Given the description of an element on the screen output the (x, y) to click on. 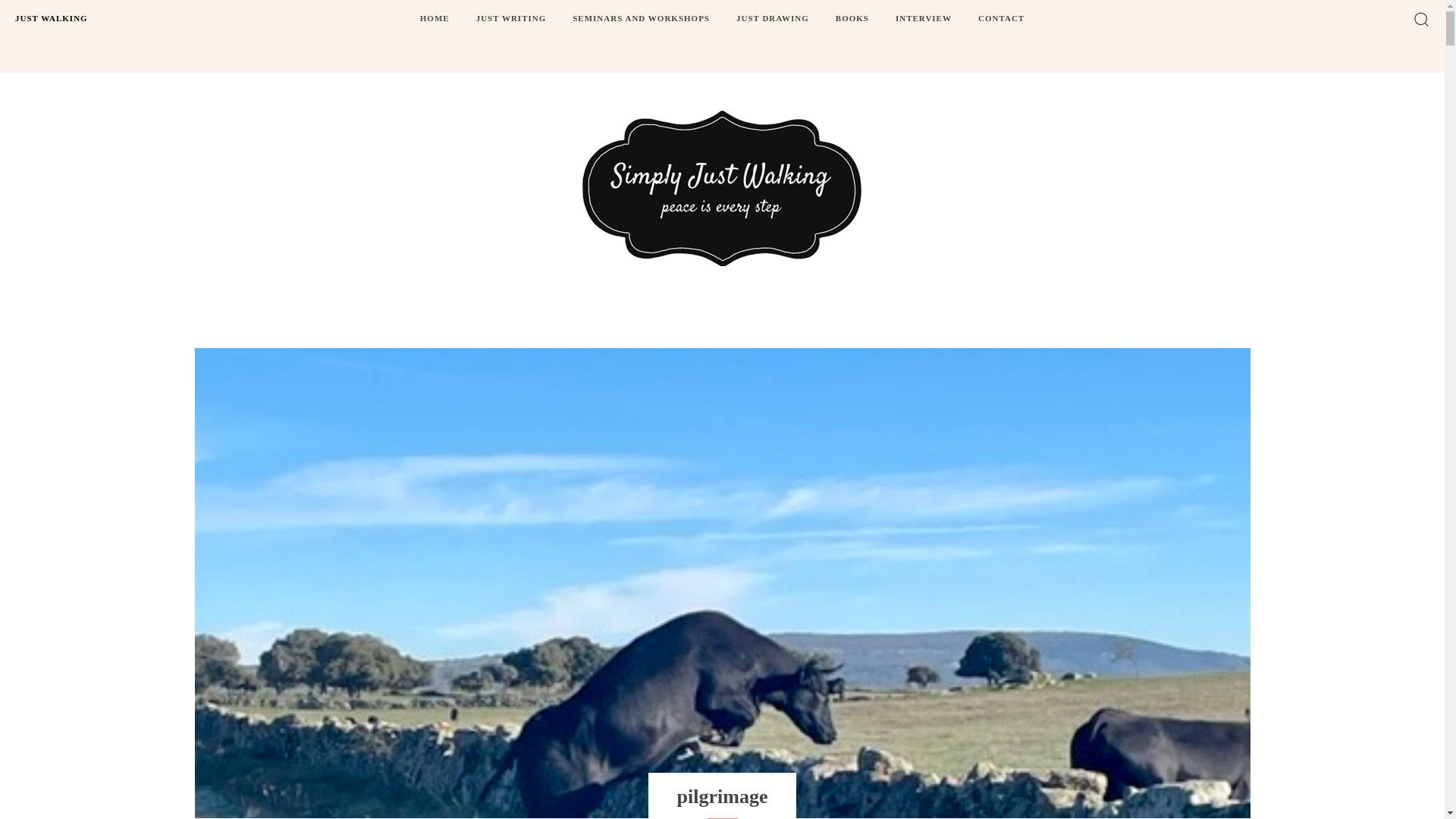
SEMINARS AND WORKSHOPS (640, 18)
JUST WRITING (511, 18)
JUST WALKING (51, 18)
HOME (434, 18)
